Given the description of an element on the screen output the (x, y) to click on. 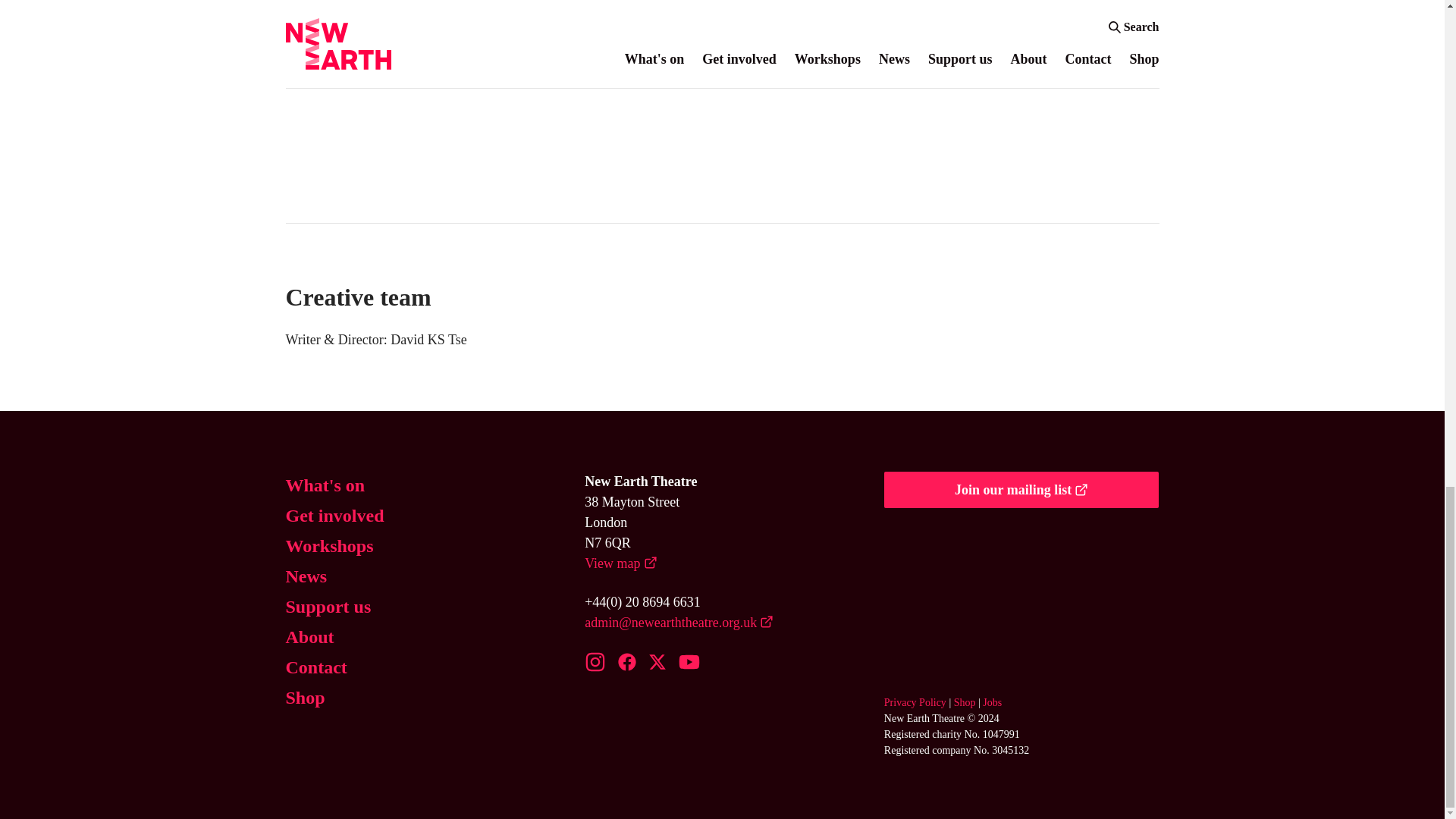
Jobs (991, 702)
Privacy Policy (914, 702)
Get involved (334, 515)
About (309, 636)
What's on (325, 484)
View map (620, 563)
Support us (328, 605)
News (305, 575)
Shop (304, 697)
Shop (964, 702)
Contact (315, 666)
Join our mailing list (1020, 489)
Workshops (328, 545)
